Given the description of an element on the screen output the (x, y) to click on. 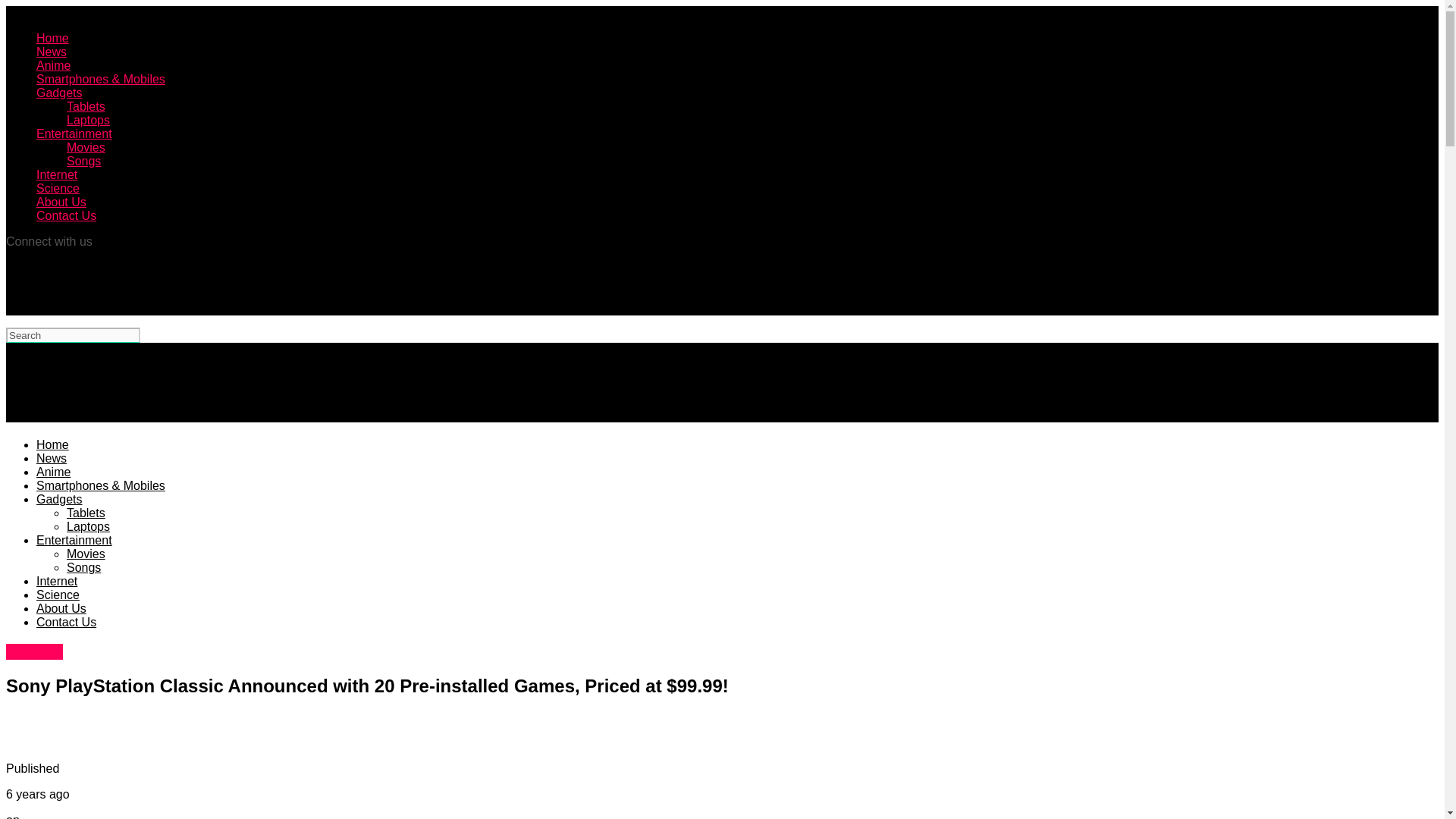
Tablets (85, 106)
Entertainment (74, 540)
Songs (83, 160)
Entertainment (74, 133)
Internet (56, 174)
Movies (85, 553)
Home (52, 444)
Gadgets (33, 651)
Science (58, 187)
Contact Us (66, 215)
